Given the description of an element on the screen output the (x, y) to click on. 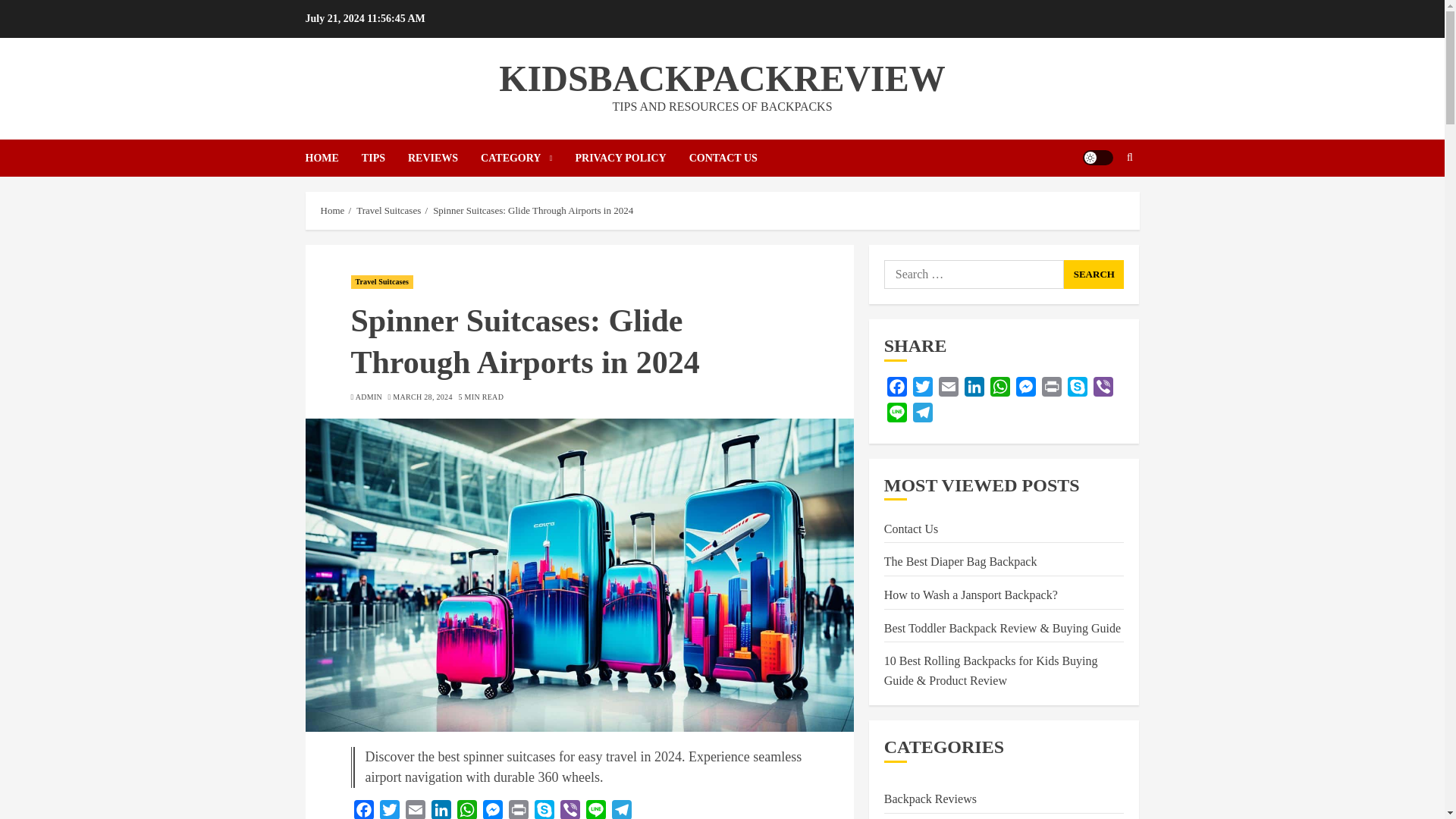
Twitter (388, 809)
Email (414, 809)
Search (1099, 203)
Travel Suitcases (381, 282)
Spinner Suitcases: Glide Through Airports in 2024 (532, 210)
TIPS (384, 157)
ADMIN (368, 397)
CONTACT US (722, 157)
Line (595, 809)
Telegram (620, 809)
LinkedIn (440, 809)
HOME (332, 157)
LinkedIn (440, 809)
Line (595, 809)
Messenger (492, 809)
